Given the description of an element on the screen output the (x, y) to click on. 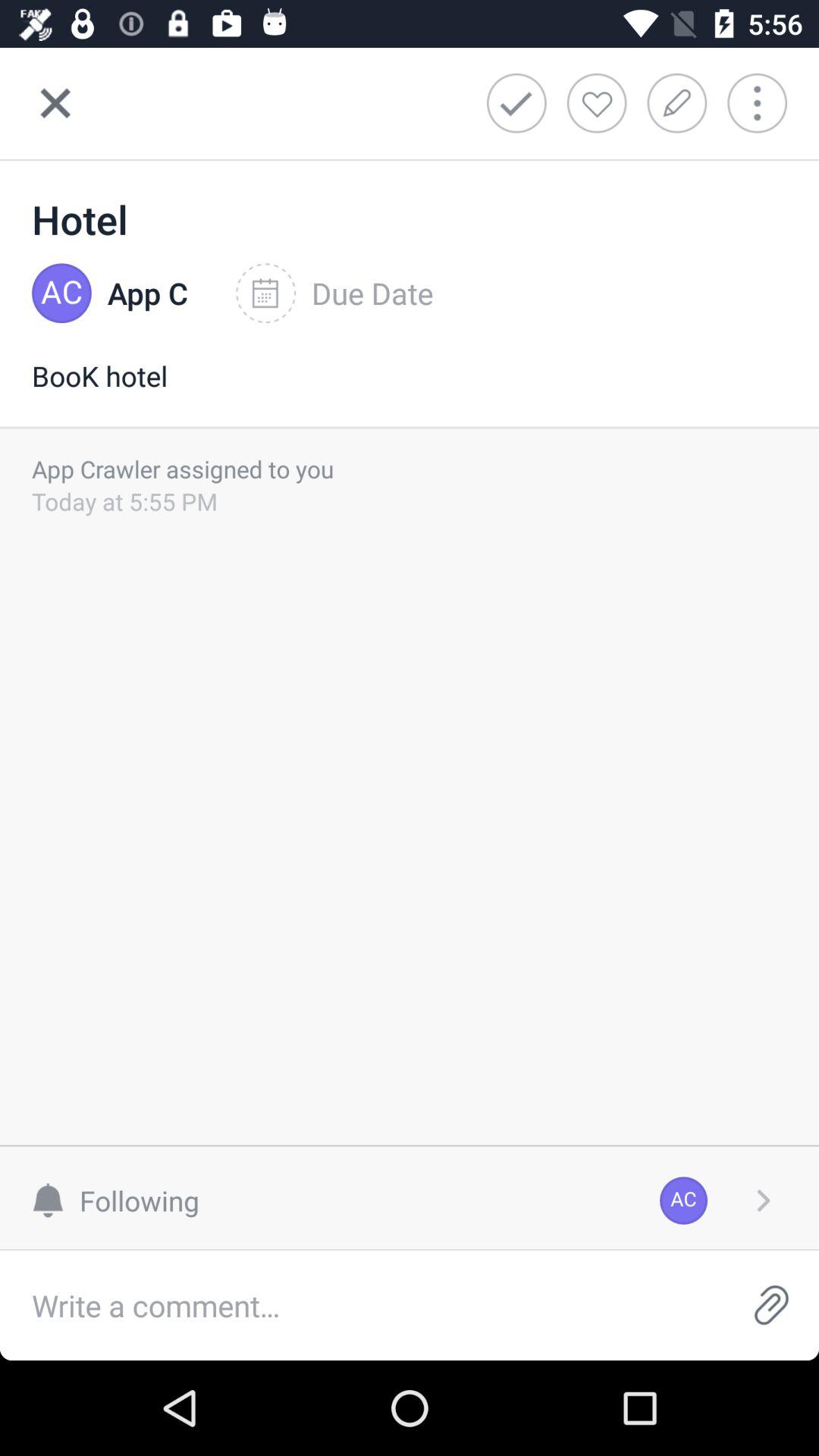
take notes (682, 103)
